Given the description of an element on the screen output the (x, y) to click on. 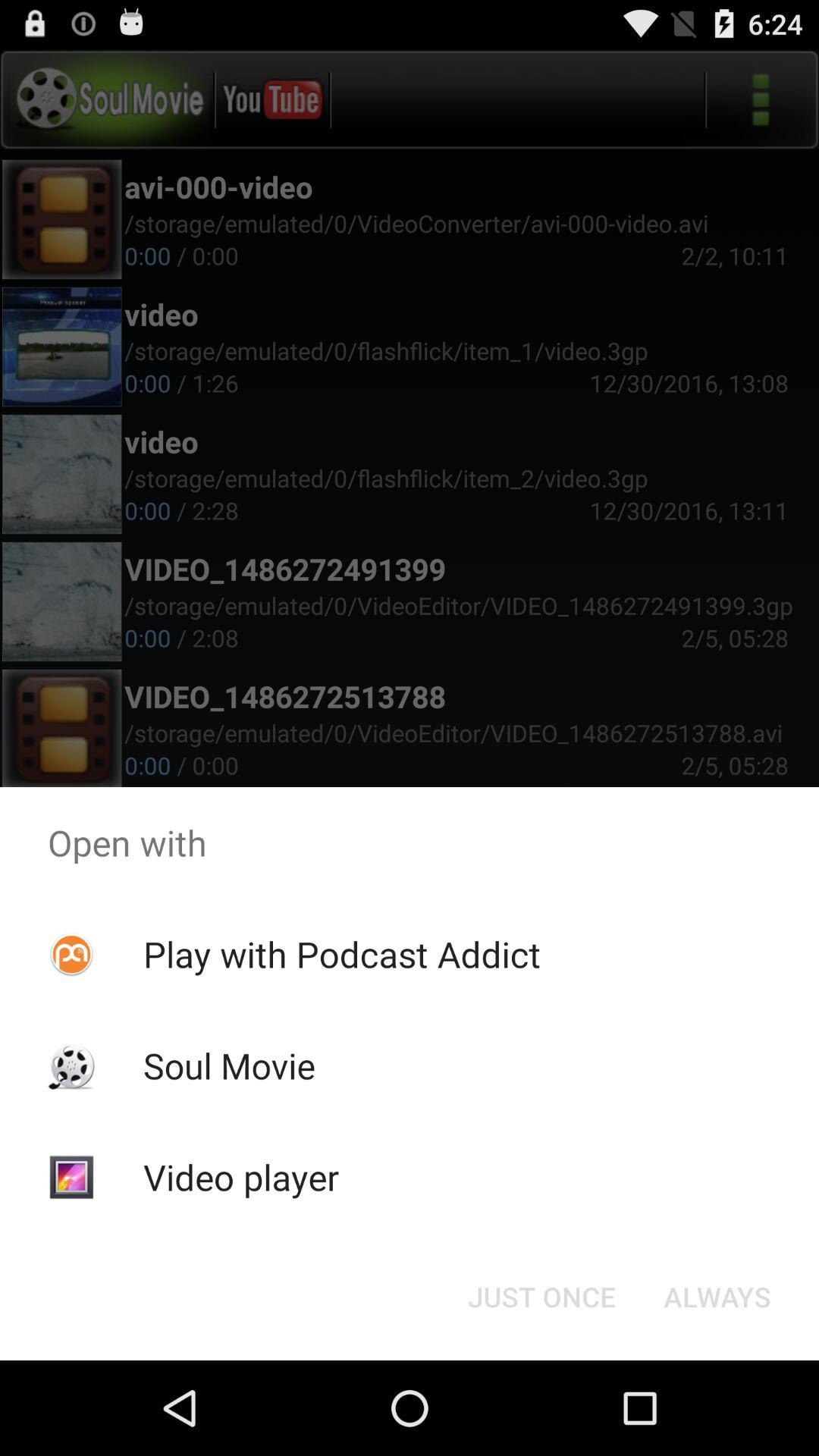
tap just once item (541, 1296)
